Given the description of an element on the screen output the (x, y) to click on. 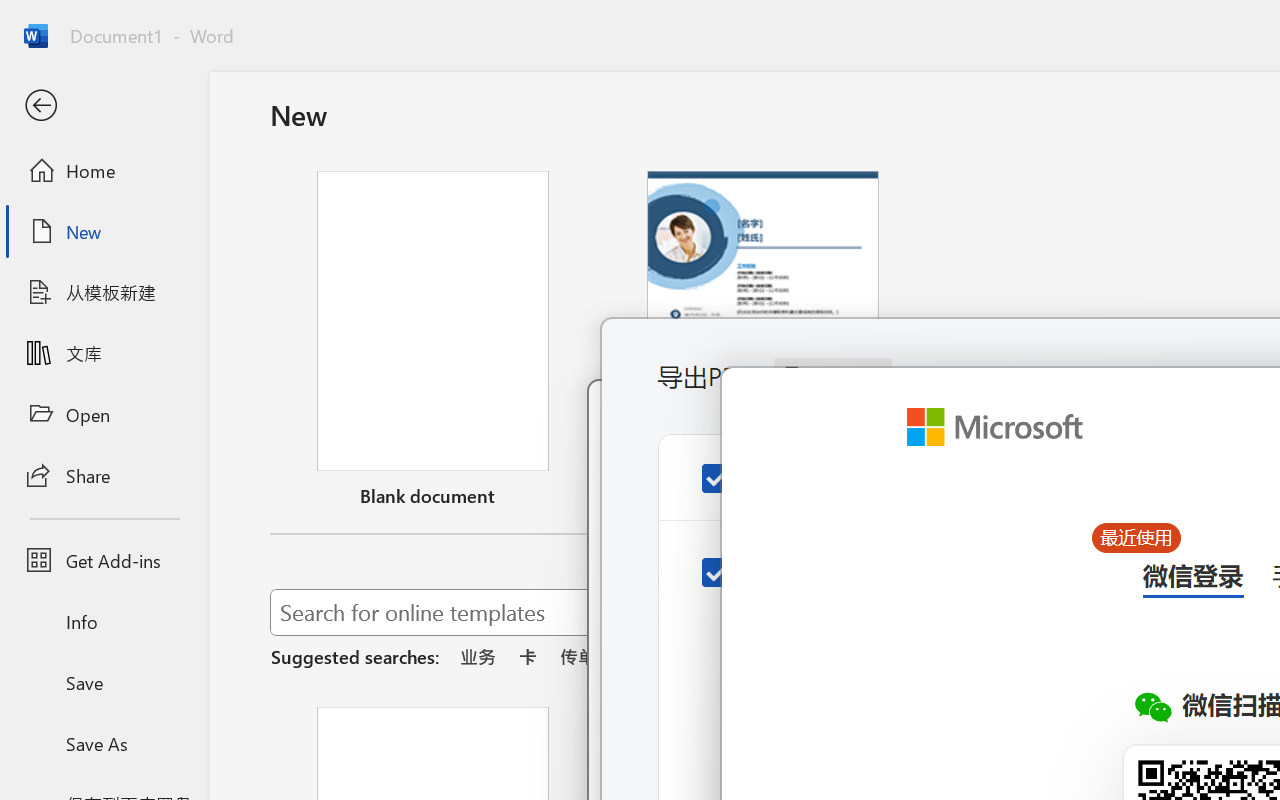
Blank document (433, 343)
Info (104, 621)
New (104, 231)
Get Add-ins (104, 560)
Back (104, 106)
